Given the description of an element on the screen output the (x, y) to click on. 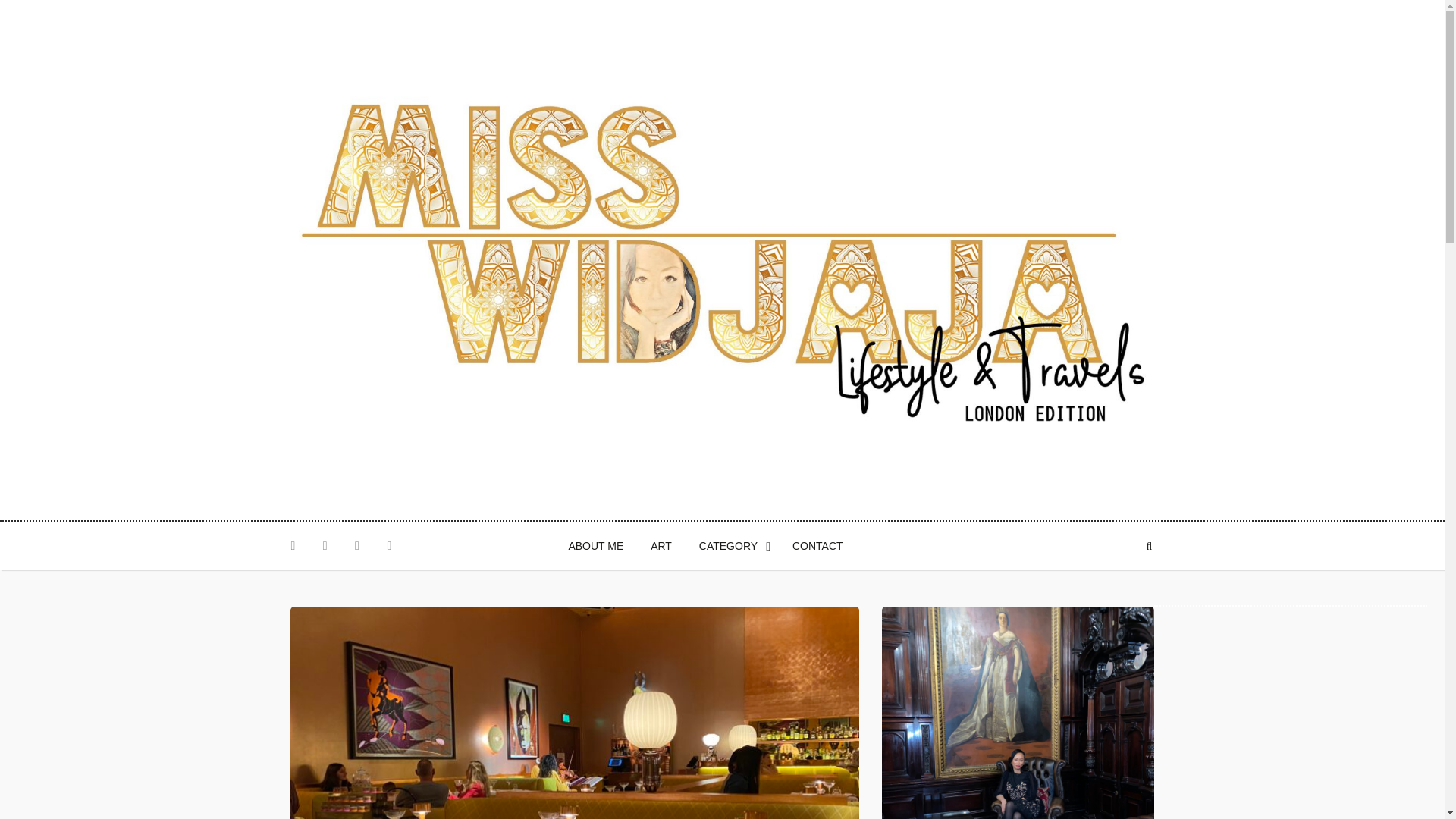
CATEGORY (732, 545)
CONTACT (818, 545)
ART (661, 545)
ABOUT ME (595, 545)
